Given the description of an element on the screen output the (x, y) to click on. 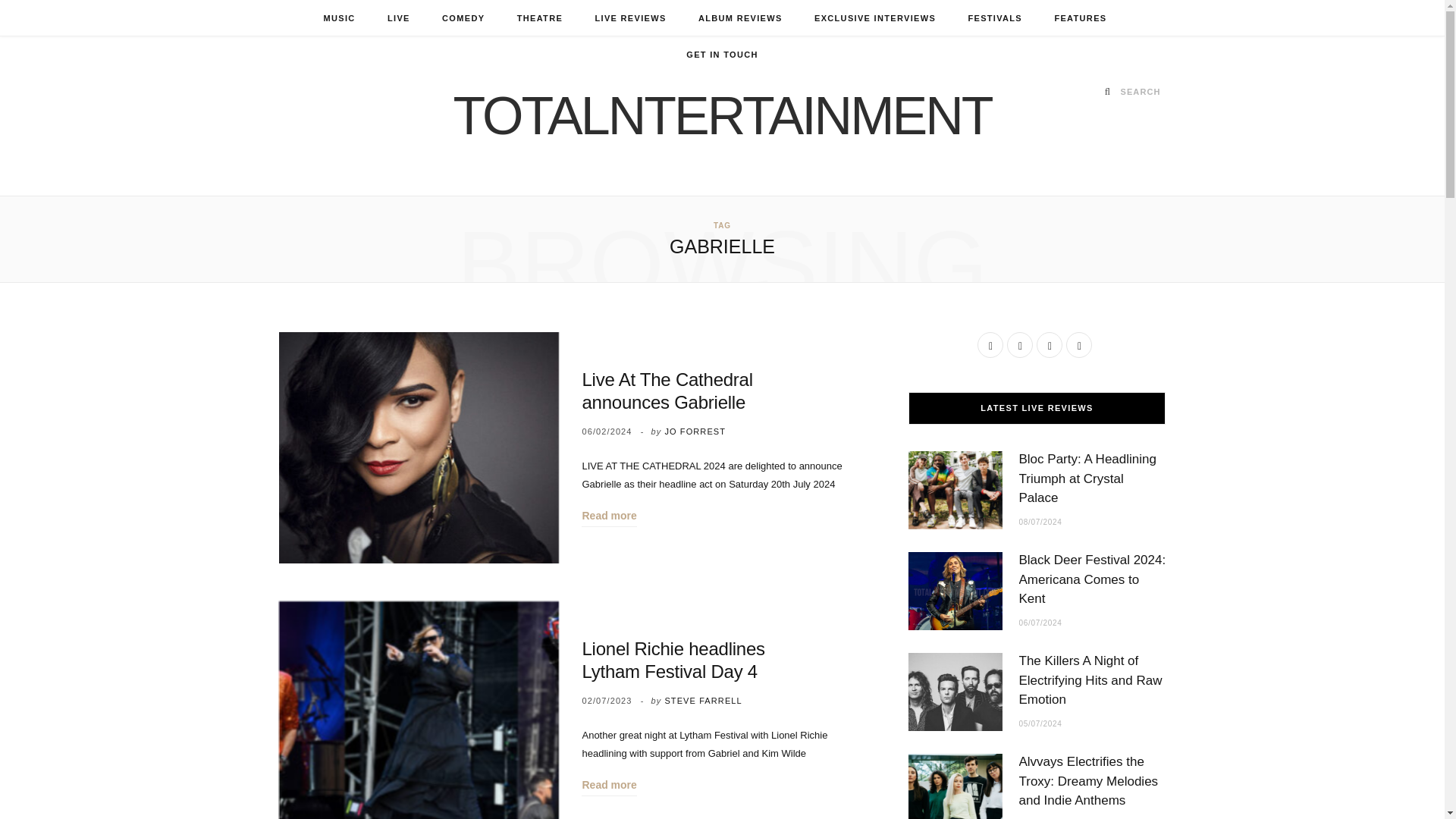
Read more (608, 784)
Lionel Richie headlines Lytham Festival Day 4 (419, 710)
EXCLUSIVE INTERVIEWS (874, 18)
COMEDY (463, 18)
FESTIVALS (994, 18)
THEATRE (539, 18)
LIVE REVIEWS (629, 18)
FEATURES (1080, 18)
TotalNtertainment (721, 115)
Read more (608, 516)
